Given the description of an element on the screen output the (x, y) to click on. 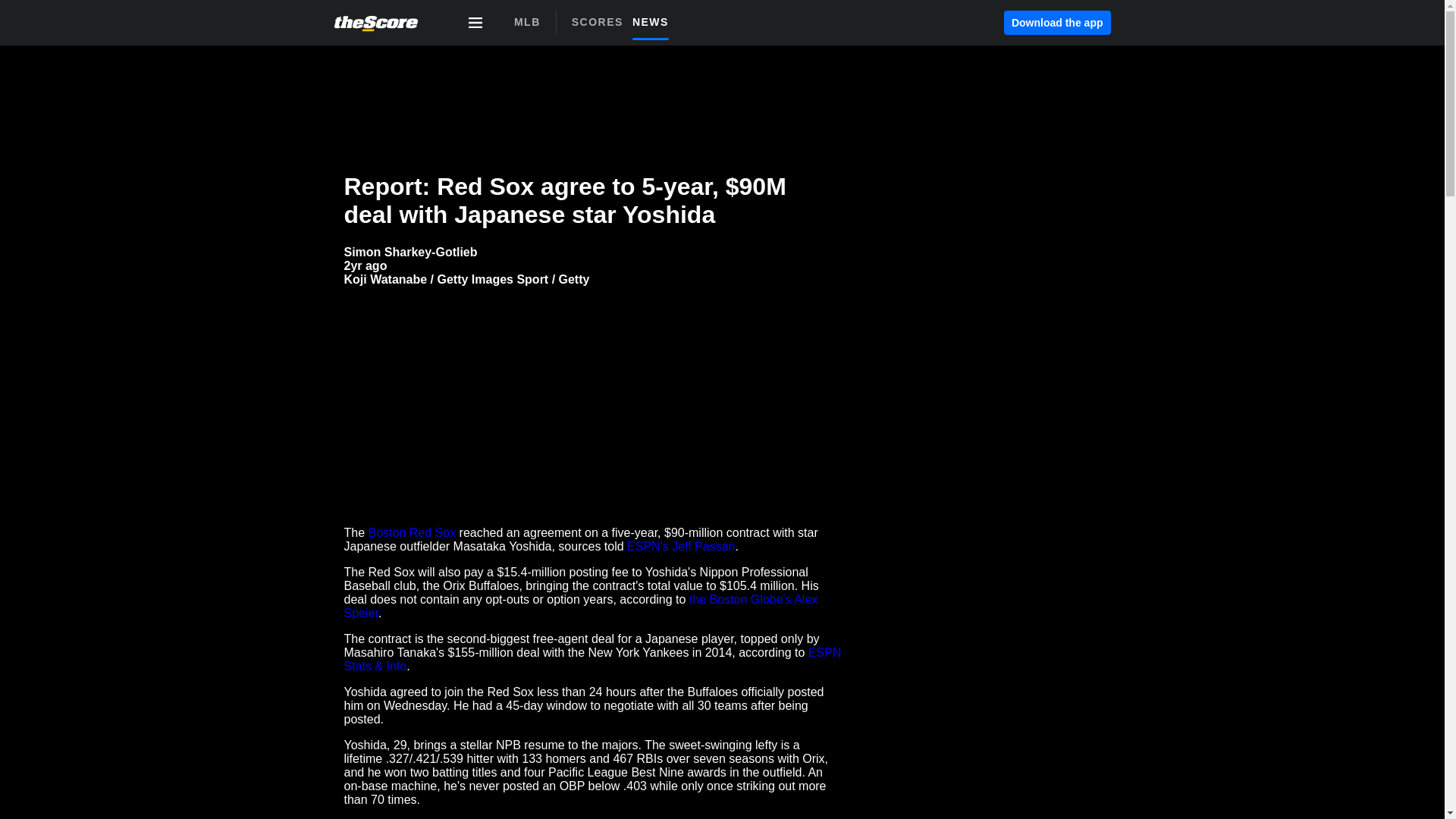
SCORES (601, 21)
Simon Sharkey-Gotlieb (410, 251)
NEWS (654, 21)
Download the app (1057, 22)
MLB (526, 22)
2022-12-07T23:41:53.000Z (365, 265)
ESPN's Jeff Passan (681, 545)
Boston Red Sox (412, 532)
the Boston Globe's Alex Speier (625, 26)
